Given the description of an element on the screen output the (x, y) to click on. 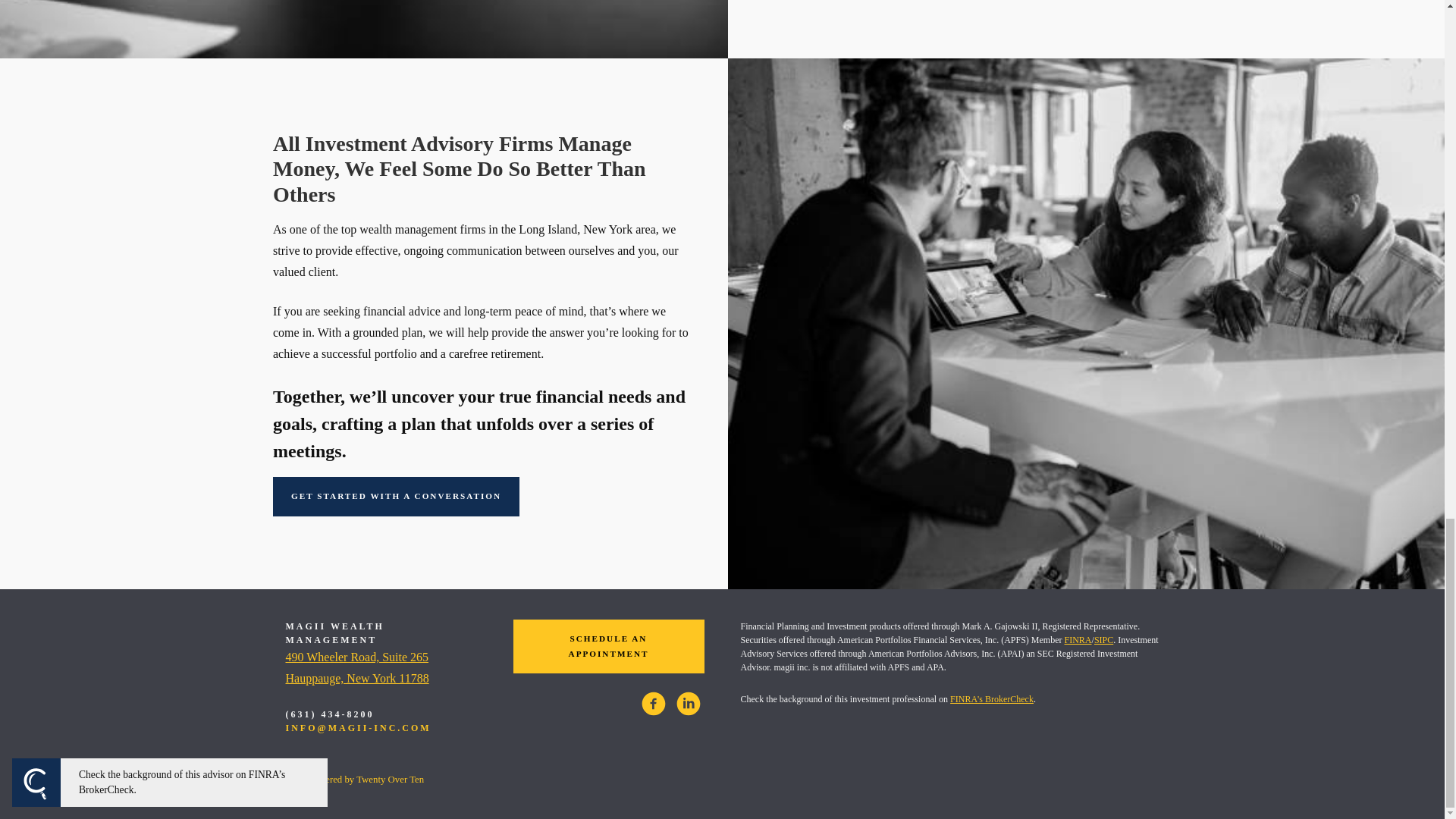
FINRA (1078, 639)
SCHEDULE AN APPOINTMENT (607, 646)
Powered by Twenty Over Ten (354, 778)
GET STARTED WITH A CONVERSATION (356, 667)
SIPC (396, 496)
FINRA's BrokerCheck (1103, 639)
